Given the description of an element on the screen output the (x, y) to click on. 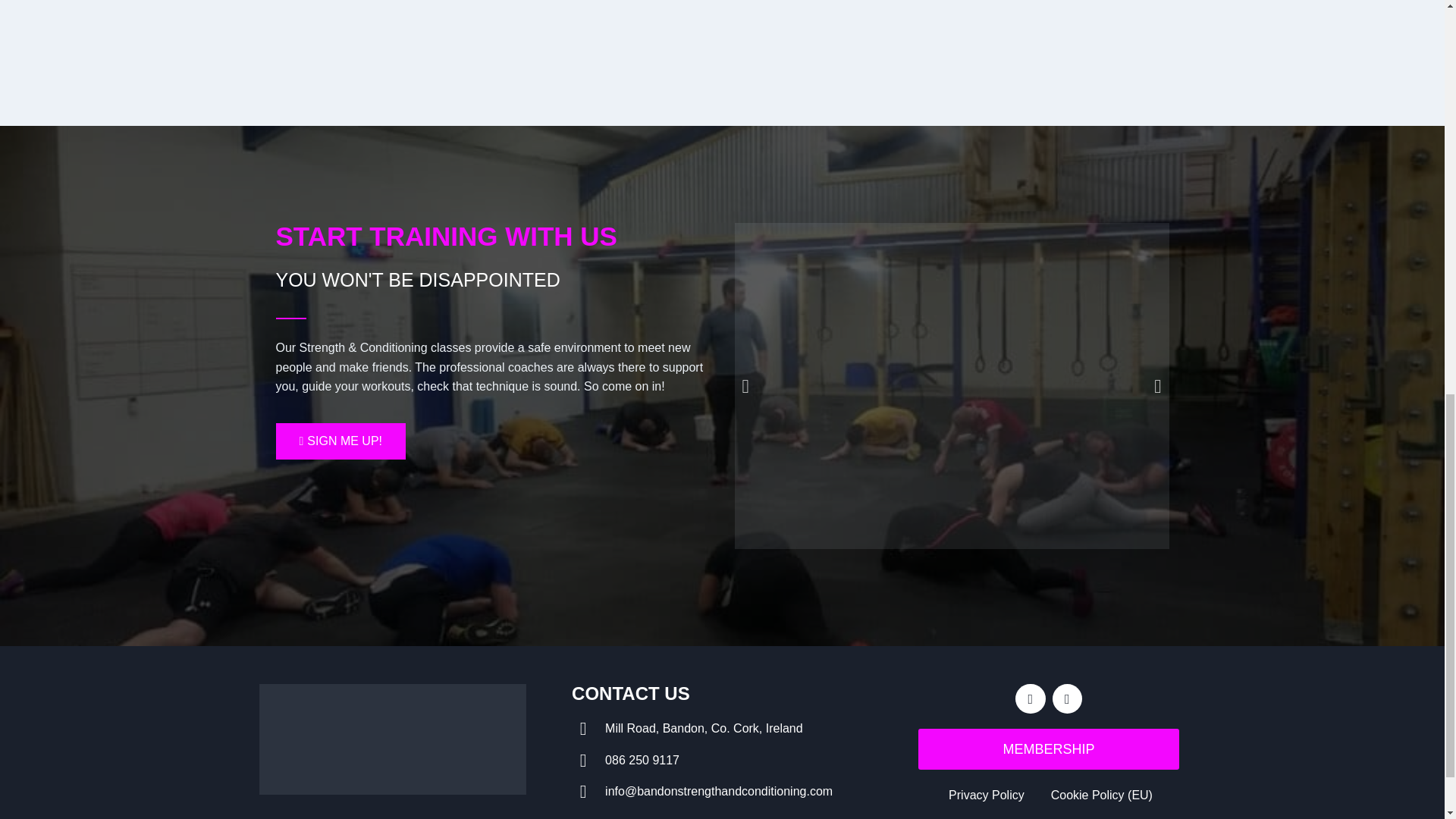
MEMBERSHIP (1048, 748)
Privacy Policy (984, 795)
086 250 9117 (722, 760)
SIGN ME UP! (341, 441)
